Given the description of an element on the screen output the (x, y) to click on. 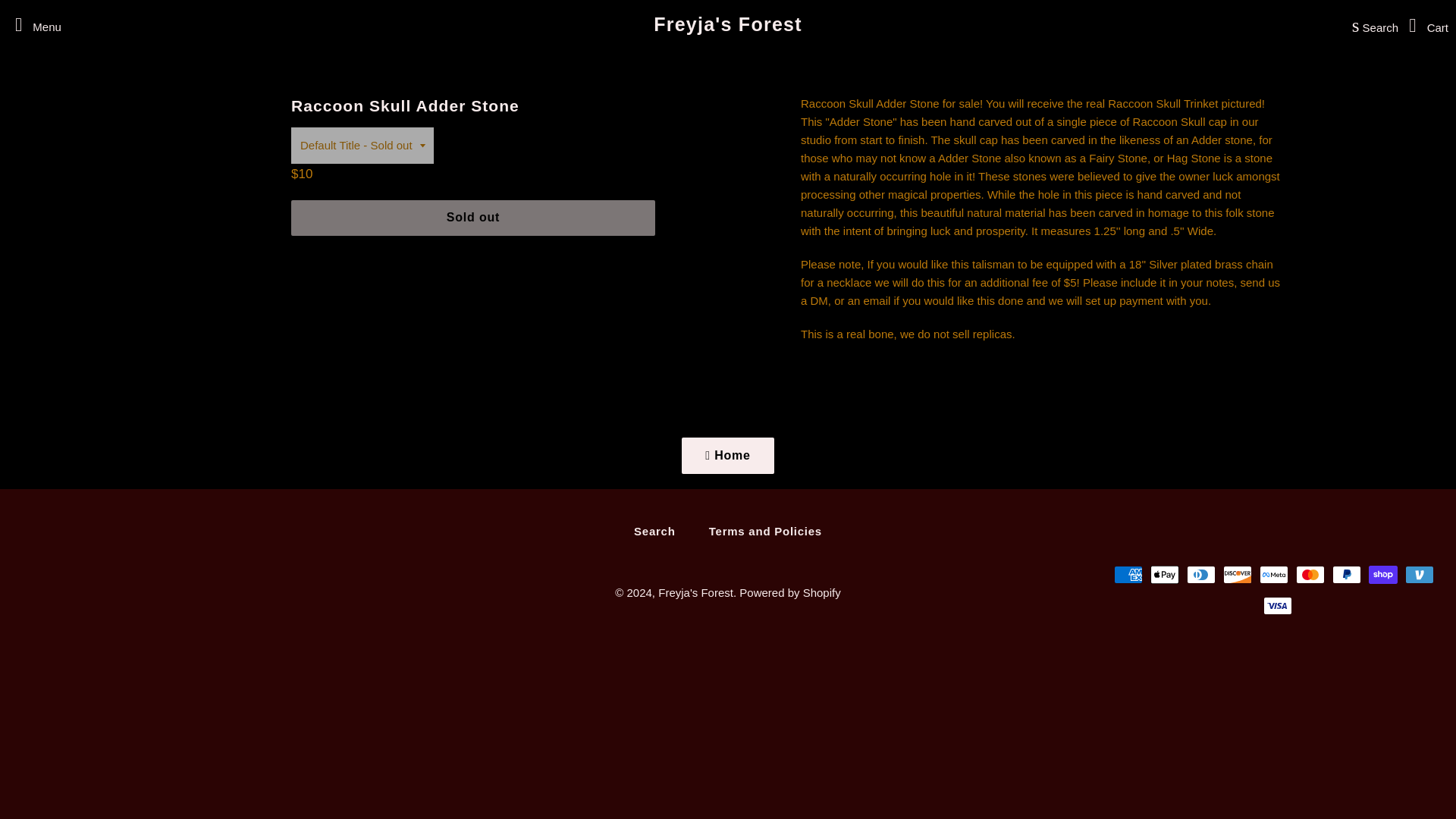
Menu (34, 24)
Discover (1237, 574)
Search (1370, 23)
PayPal (1346, 574)
Visa (1277, 606)
Search (654, 530)
Diners Club (1200, 574)
Powered by Shopify (789, 592)
Shop Pay (1382, 574)
Freyja's Forest (695, 592)
